Given the description of an element on the screen output the (x, y) to click on. 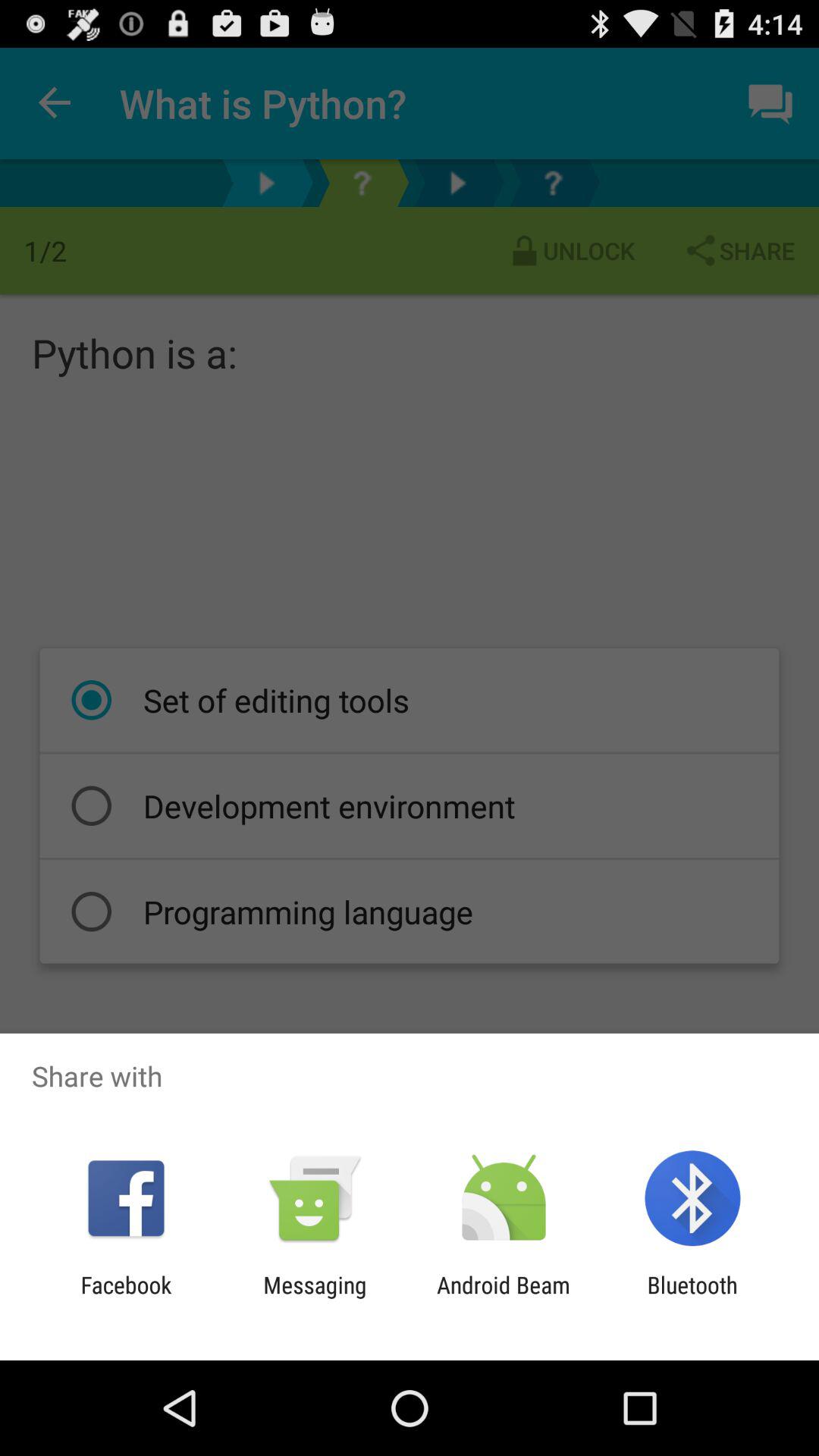
tap app to the right of the facebook app (314, 1298)
